Given the description of an element on the screen output the (x, y) to click on. 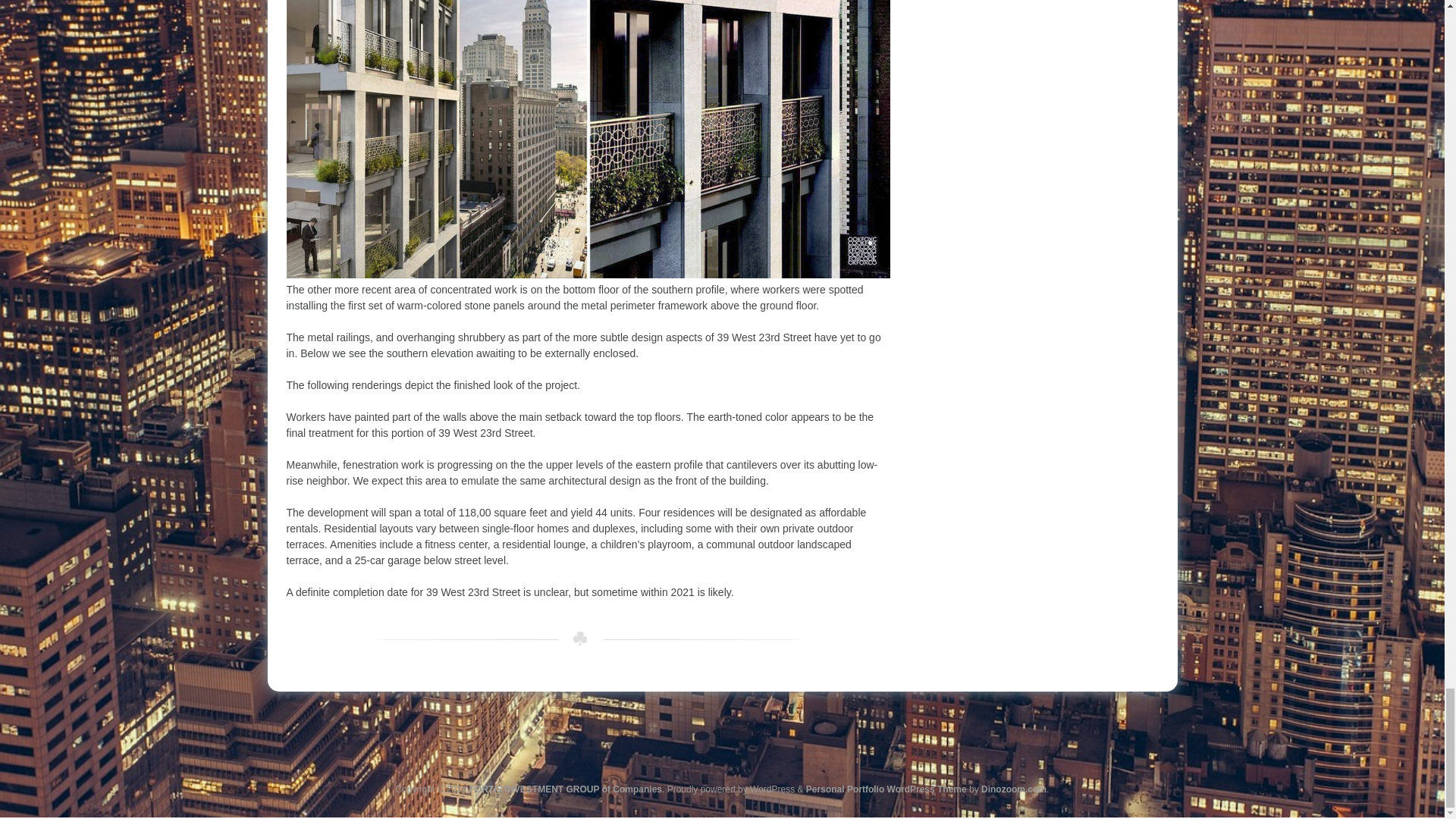
FORTIS INVESTMENT GROUP of Companies (565, 788)
